Given the description of an element on the screen output the (x, y) to click on. 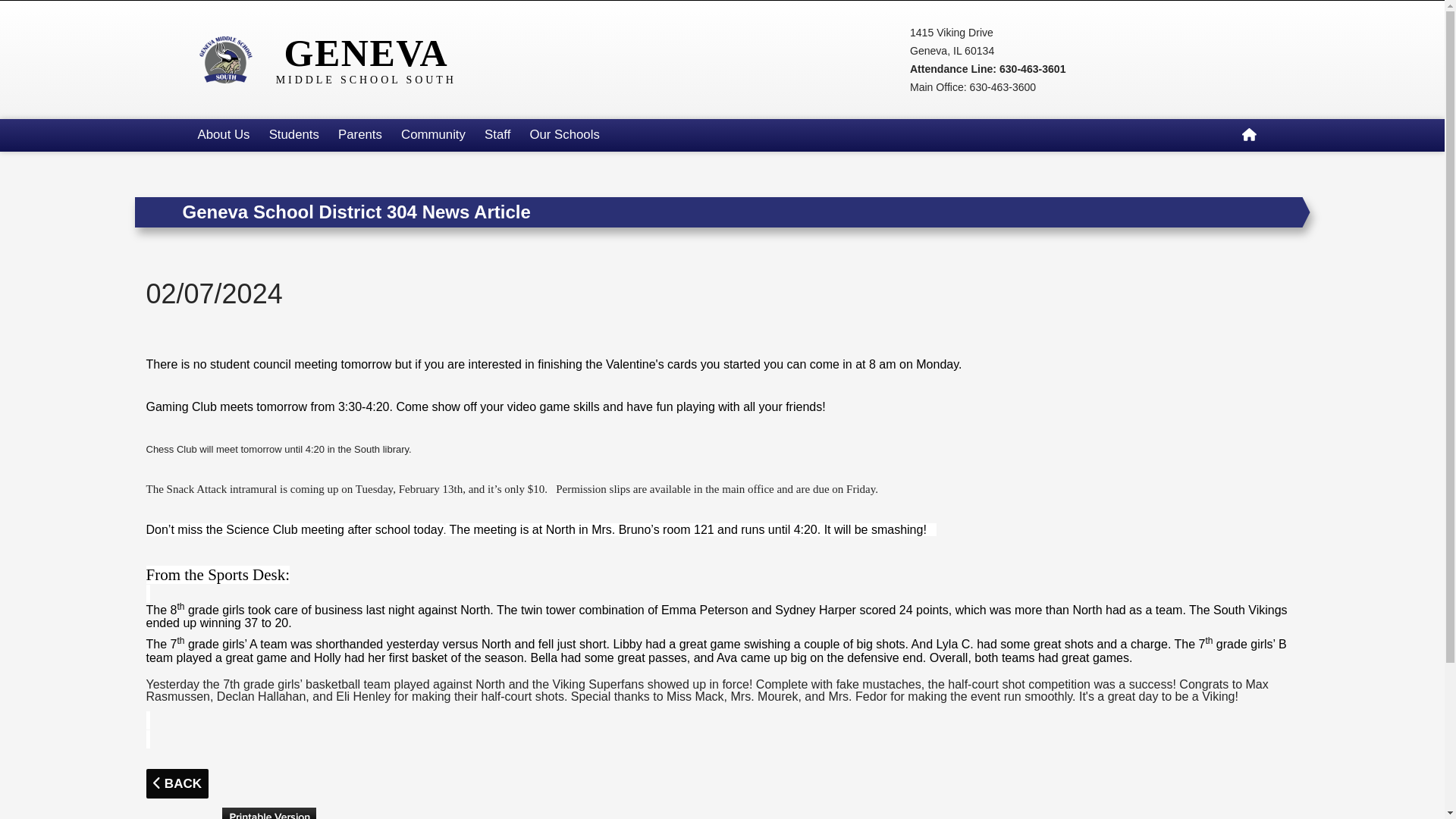
Students (293, 135)
About Us (223, 135)
Home (1249, 134)
